Given the description of an element on the screen output the (x, y) to click on. 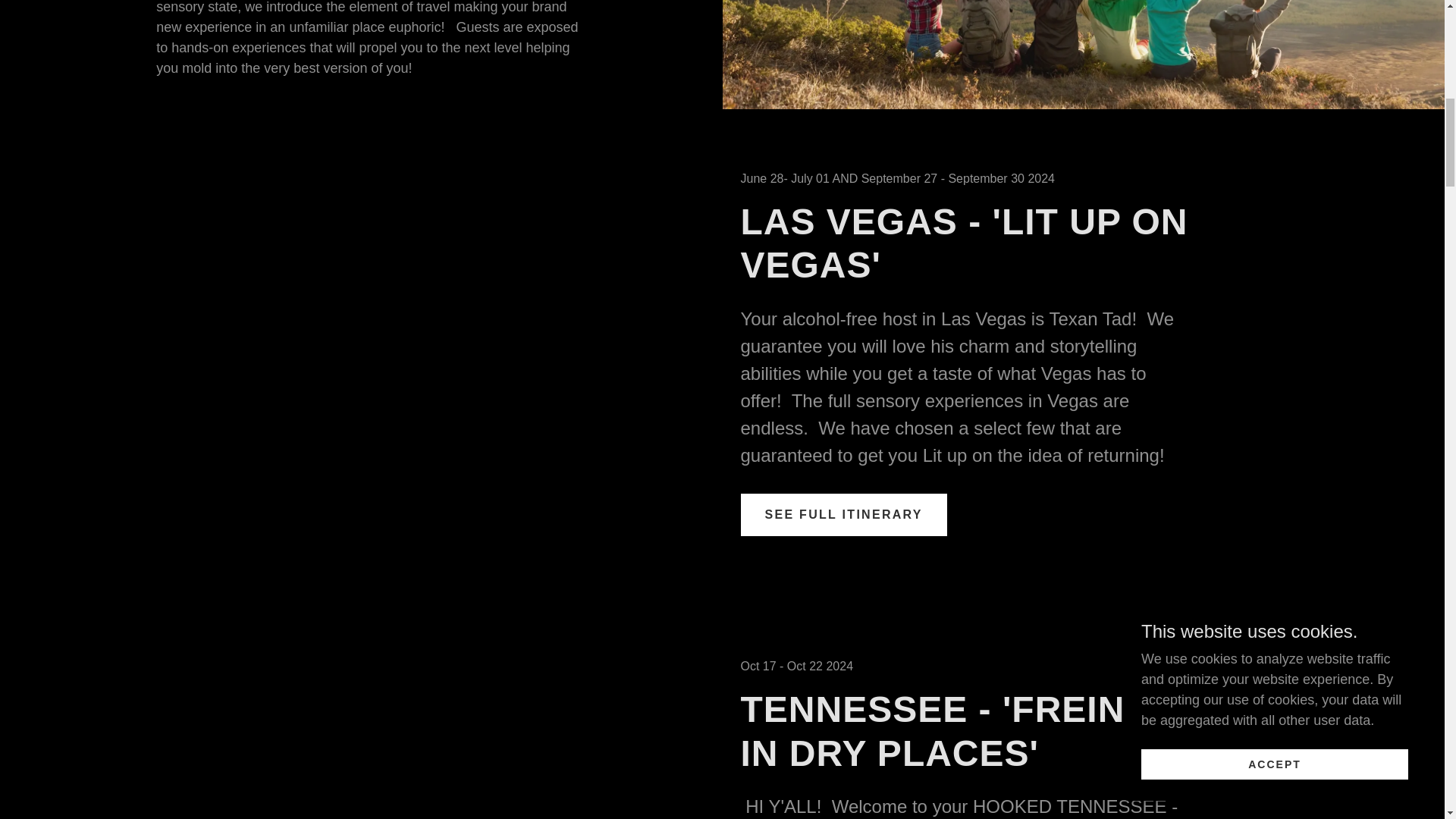
SEE FULL ITINERARY (842, 514)
